Given the description of an element on the screen output the (x, y) to click on. 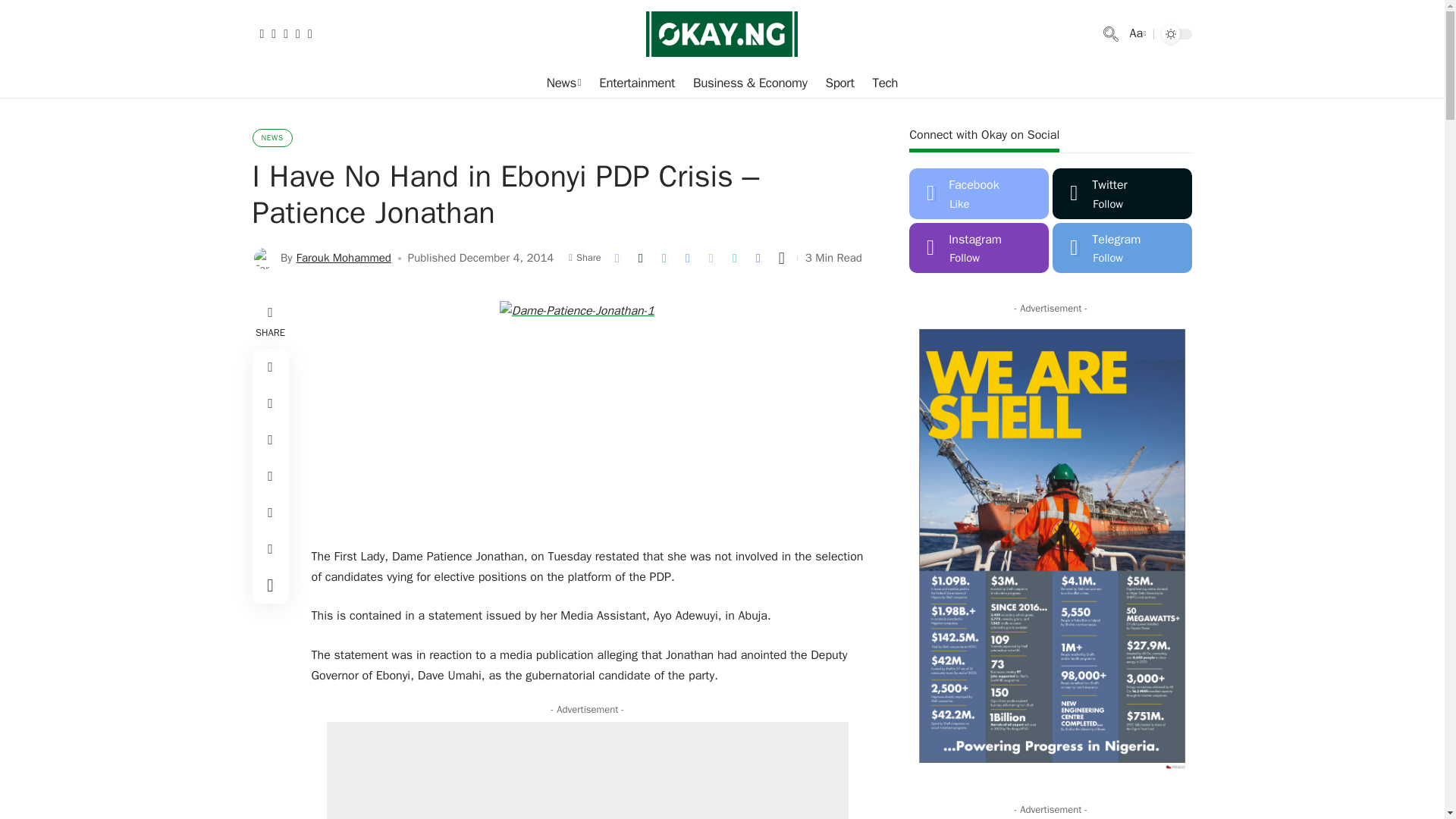
News (563, 82)
Okay.ng (721, 33)
Entertainment (636, 82)
Sport (839, 82)
Advertisement (587, 770)
Aa (1135, 33)
Tech (885, 82)
